Given the description of an element on the screen output the (x, y) to click on. 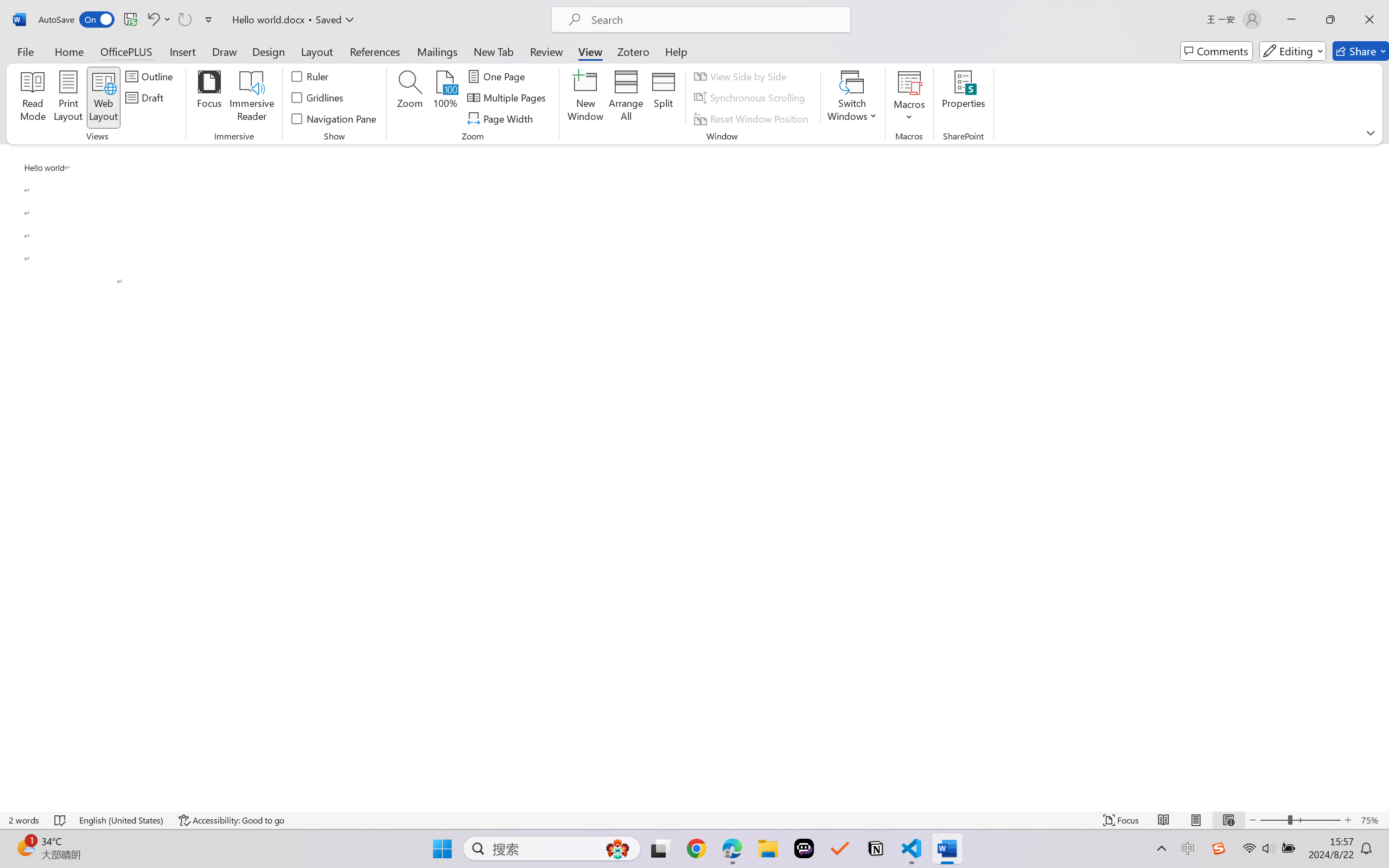
Zoom Out (1273, 819)
Page Width (501, 118)
Comments (1216, 50)
Accessibility Checker Accessibility: Good to go (231, 819)
Read Mode (1163, 819)
View Macros (909, 81)
Gridlines (317, 97)
OfficePLUS (126, 51)
View Side by Side (741, 75)
Ribbon Display Options (1370, 132)
Design (268, 51)
Share (1360, 51)
Properties (963, 97)
Draft (146, 97)
Zotero (632, 51)
